Given the description of an element on the screen output the (x, y) to click on. 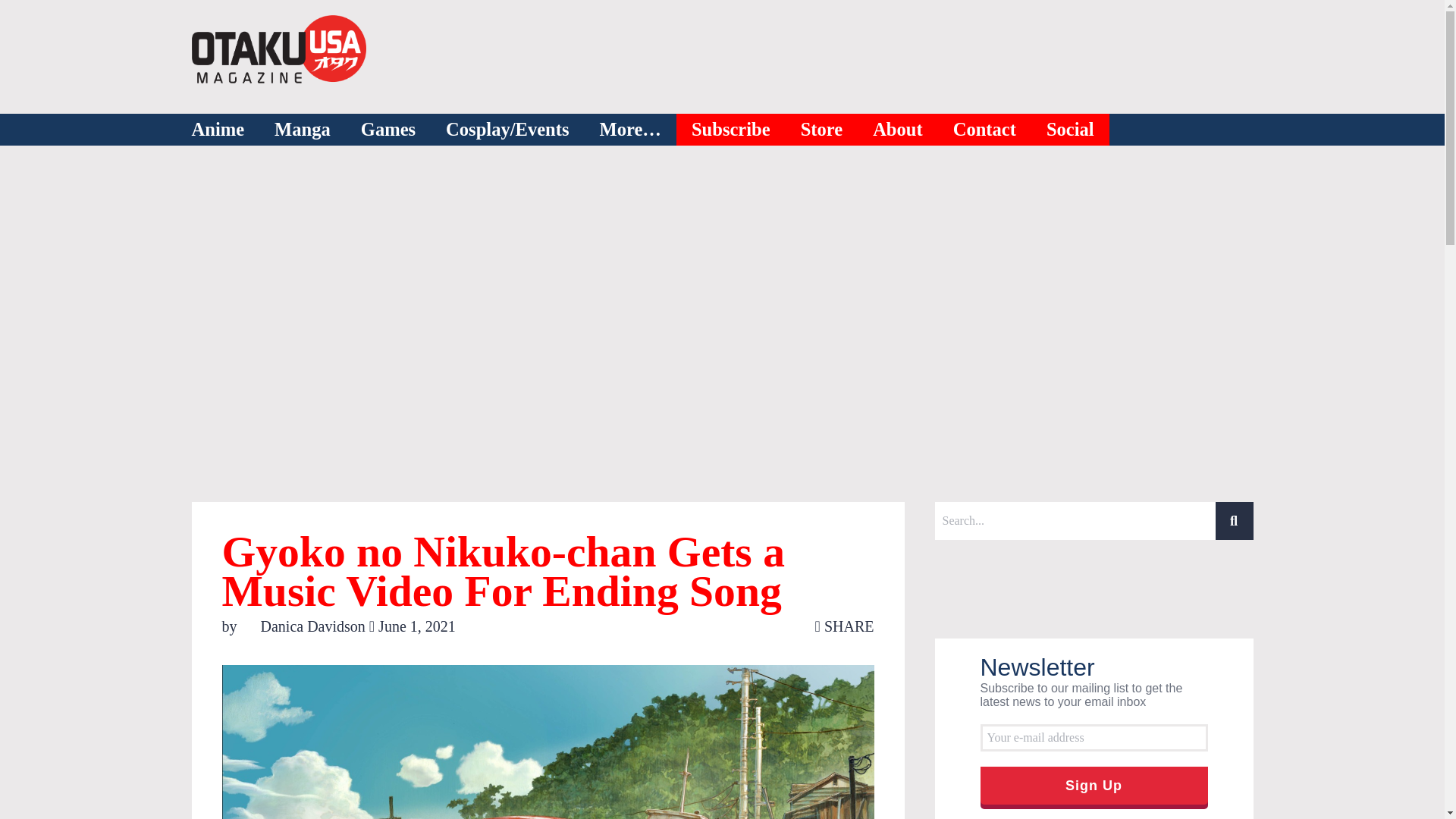
About (897, 129)
Social (1070, 129)
Anime (217, 129)
Sign Up (1093, 785)
SHARE (845, 626)
Subscribe (730, 129)
Store (821, 129)
Contact (984, 129)
Manga (302, 129)
Danica Davidson (304, 626)
